Given the description of an element on the screen output the (x, y) to click on. 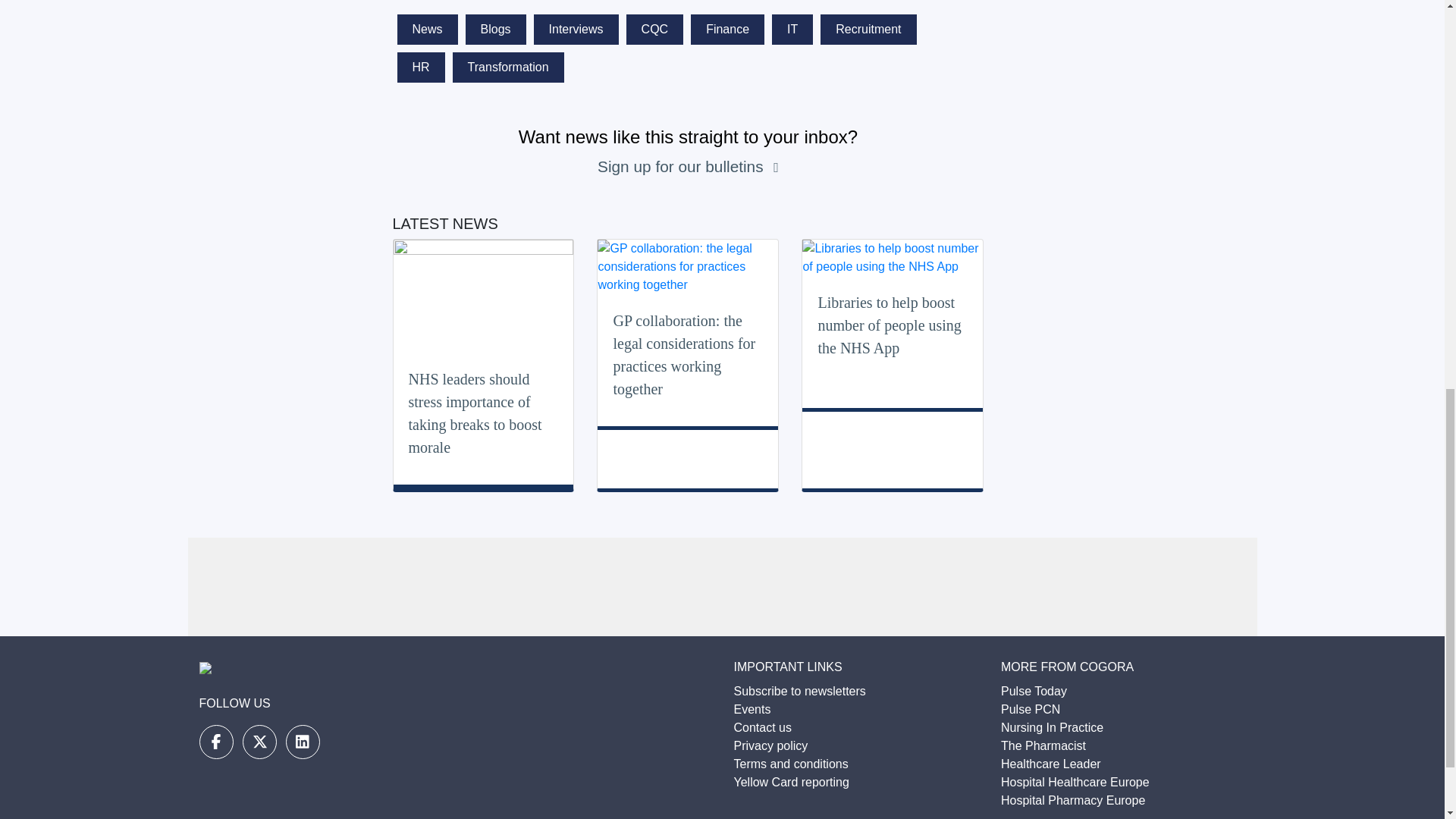
Contact us (762, 727)
Privacy policy (770, 745)
Healthcare Leader (1050, 763)
Nursing In Practice (1052, 727)
Pulse PCN (1030, 708)
Pulse Today (1034, 690)
Hospital Healthcare Europe (1075, 781)
Hospital Pharmacy Europe (1072, 799)
Terms and conditions (790, 763)
Yellow Card reporting (790, 781)
